Given the description of an element on the screen output the (x, y) to click on. 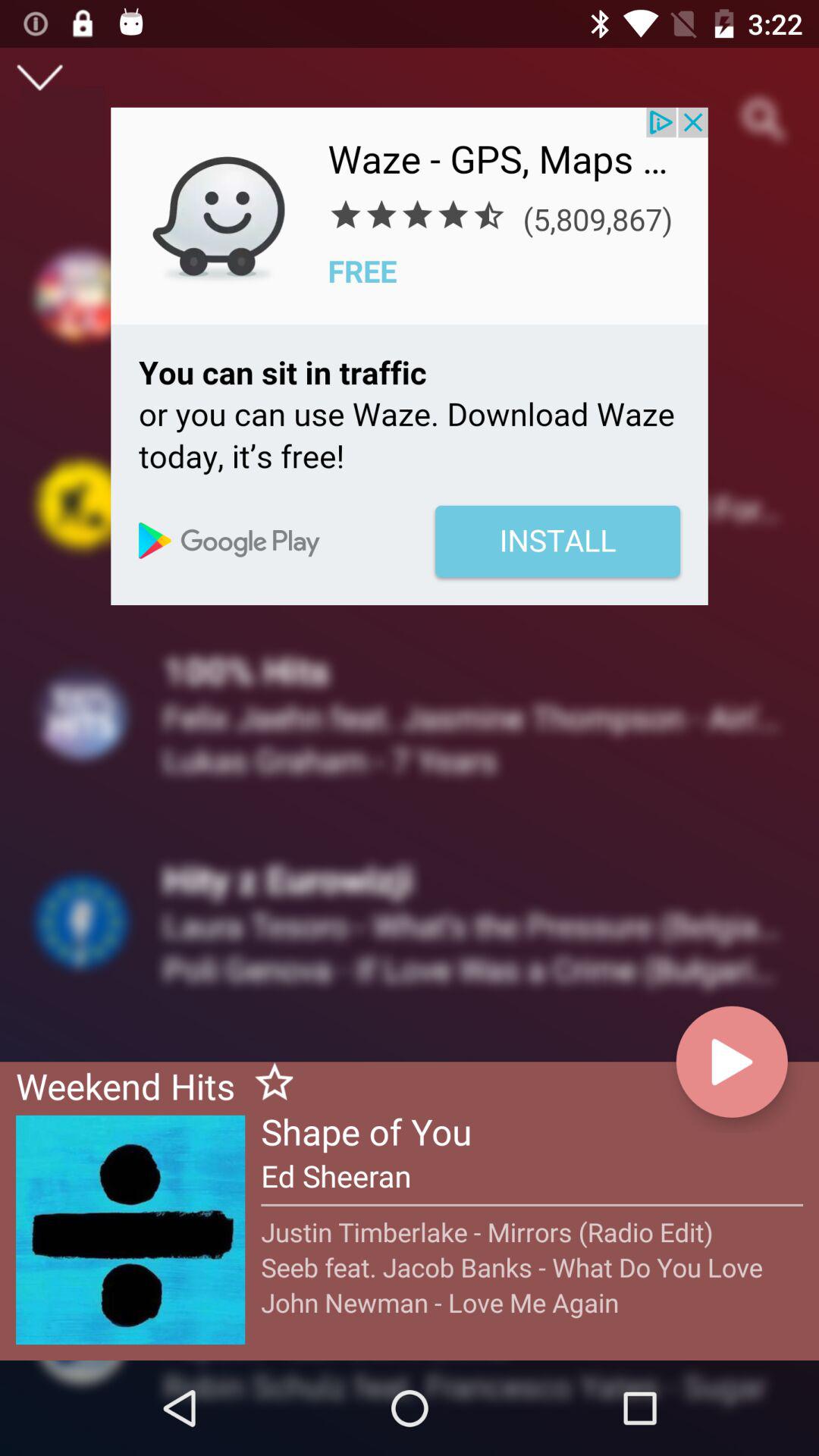
favourite icon (267, 1084)
